Given the description of an element on the screen output the (x, y) to click on. 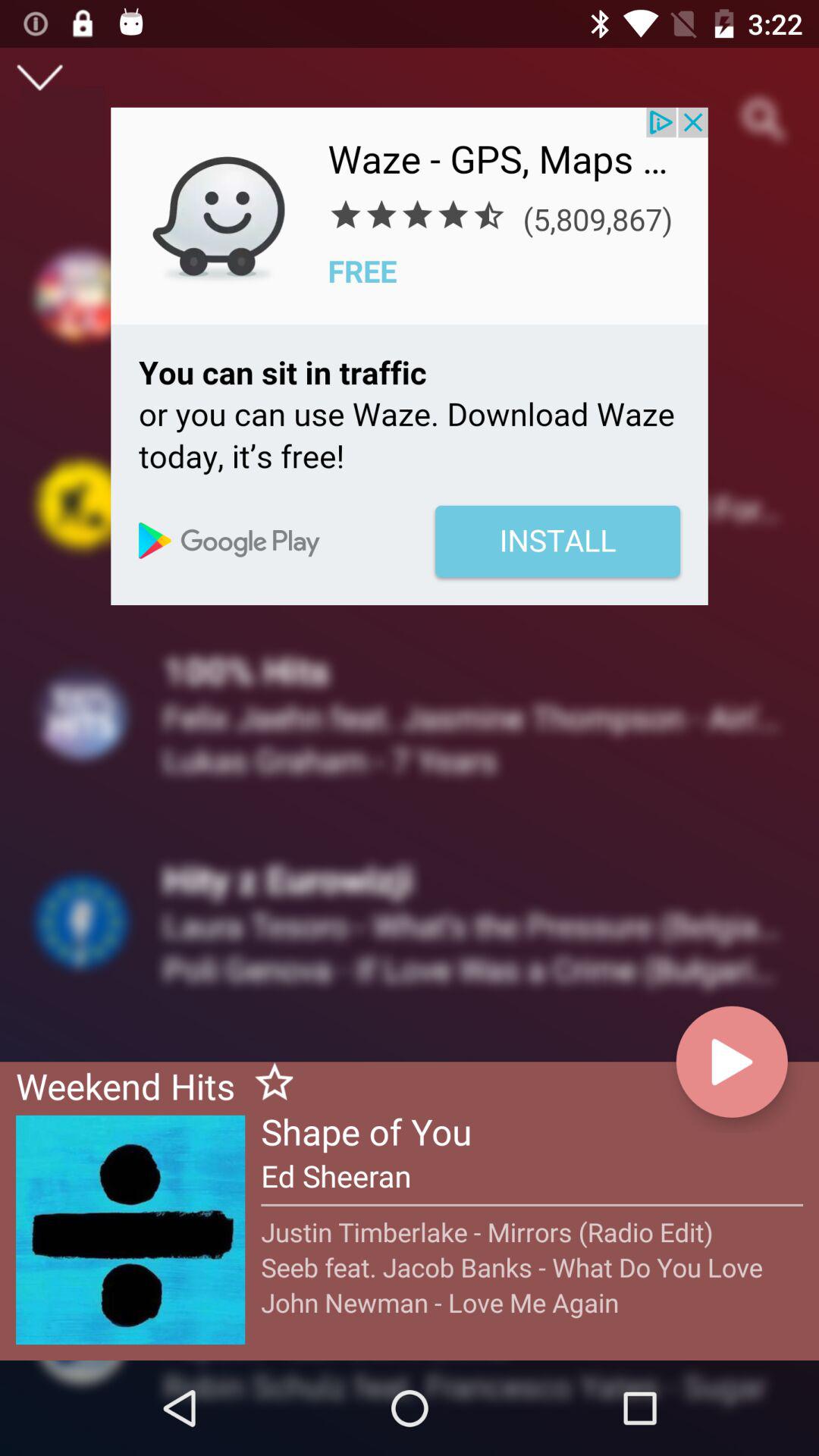
favourite icon (267, 1084)
